Given the description of an element on the screen output the (x, y) to click on. 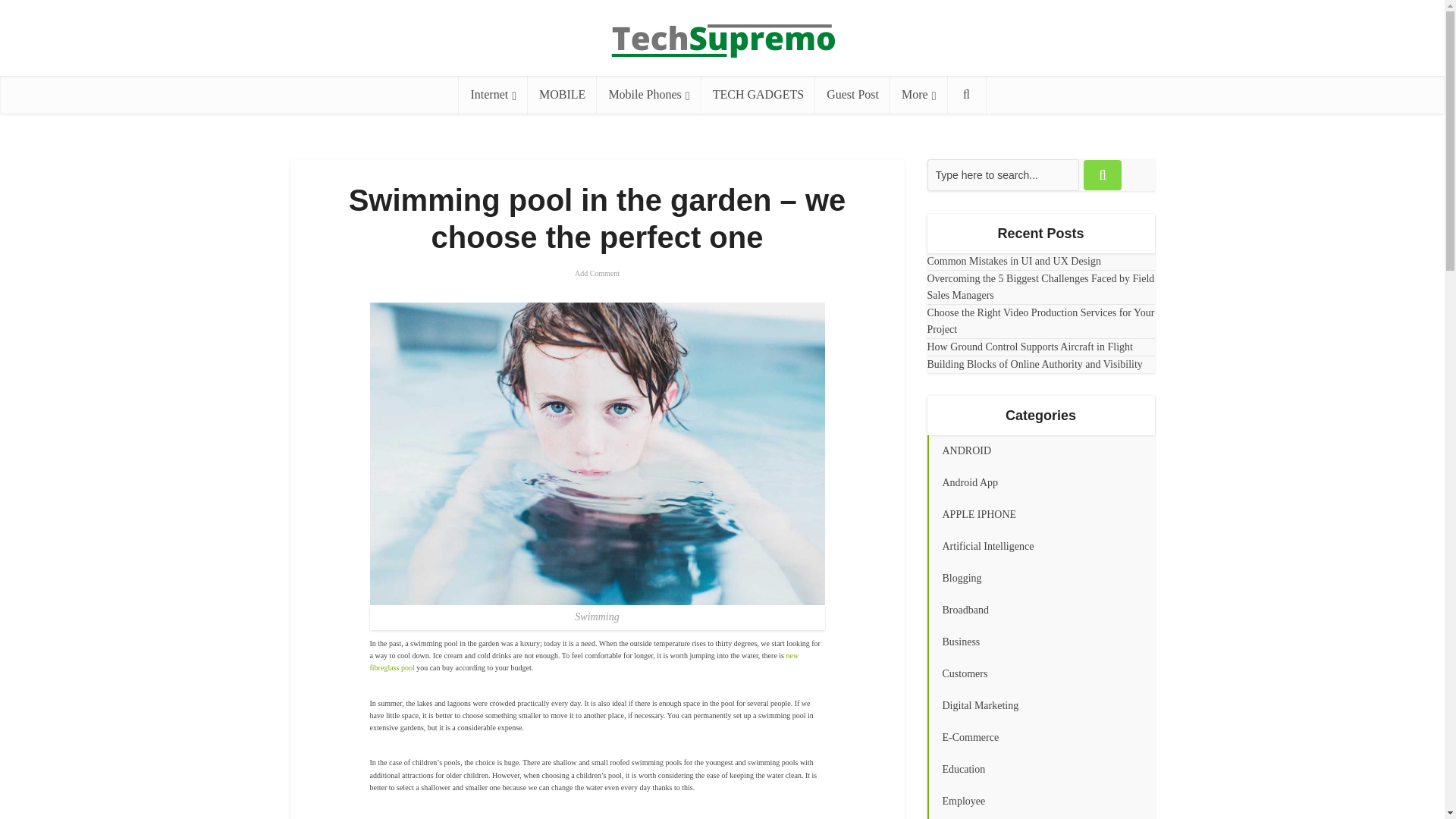
Internet (492, 94)
Add Comment (597, 274)
Guest Post (852, 94)
Type here to search... (1002, 174)
More (918, 94)
MOBILE (561, 94)
Mobile Phones (648, 94)
TechSupremo (721, 31)
Type here to search... (1002, 174)
TECH GADGETS (758, 94)
